Given the description of an element on the screen output the (x, y) to click on. 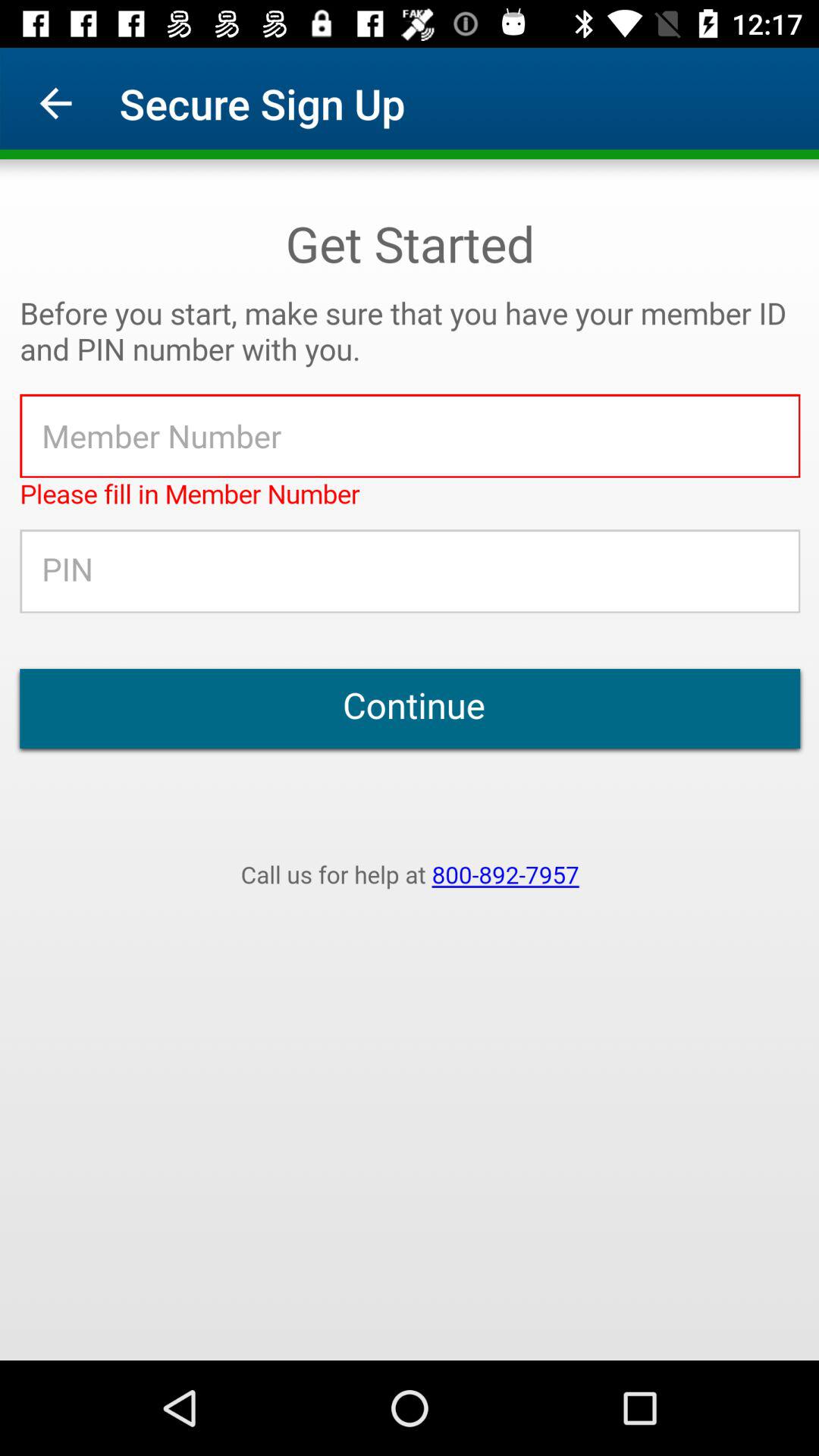
launch icon to the left of secure sign up app (55, 103)
